Given the description of an element on the screen output the (x, y) to click on. 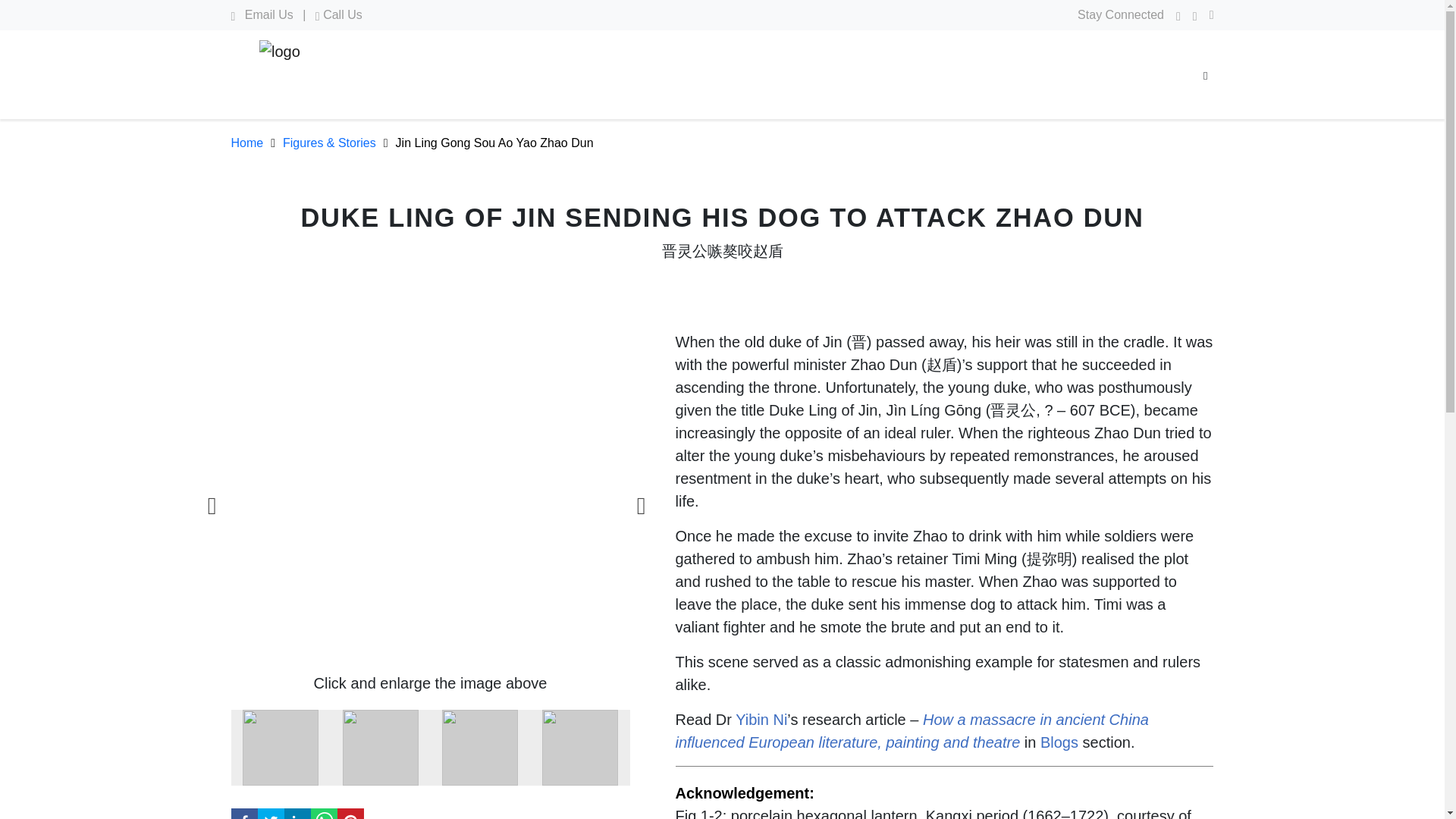
Previous (212, 500)
Next (641, 500)
Blogs (1059, 742)
Home (256, 143)
Yibin Ni (761, 719)
Email Us (261, 14)
Call Us (338, 14)
